Given the description of an element on the screen output the (x, y) to click on. 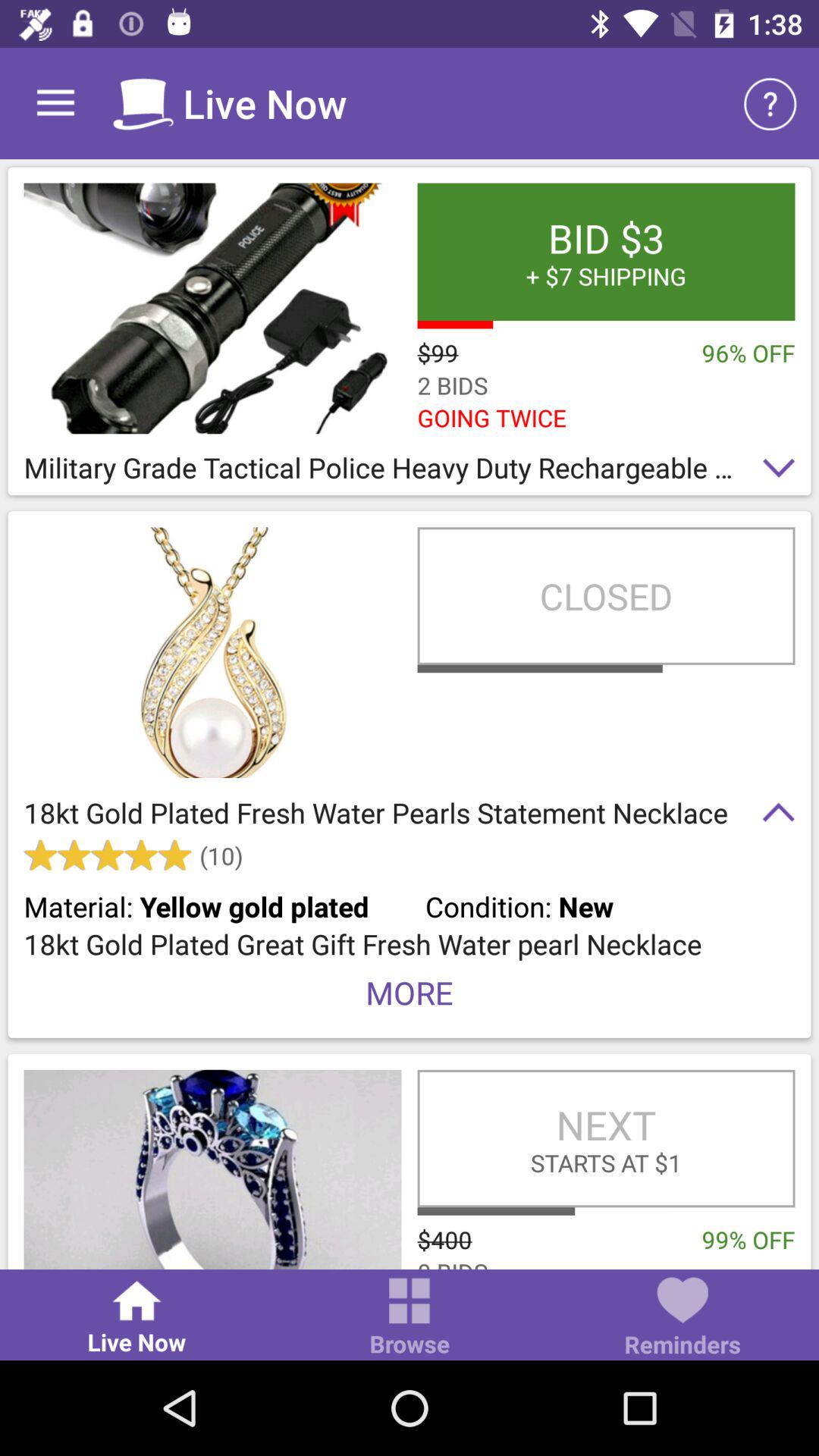
view (212, 308)
